Given the description of an element on the screen output the (x, y) to click on. 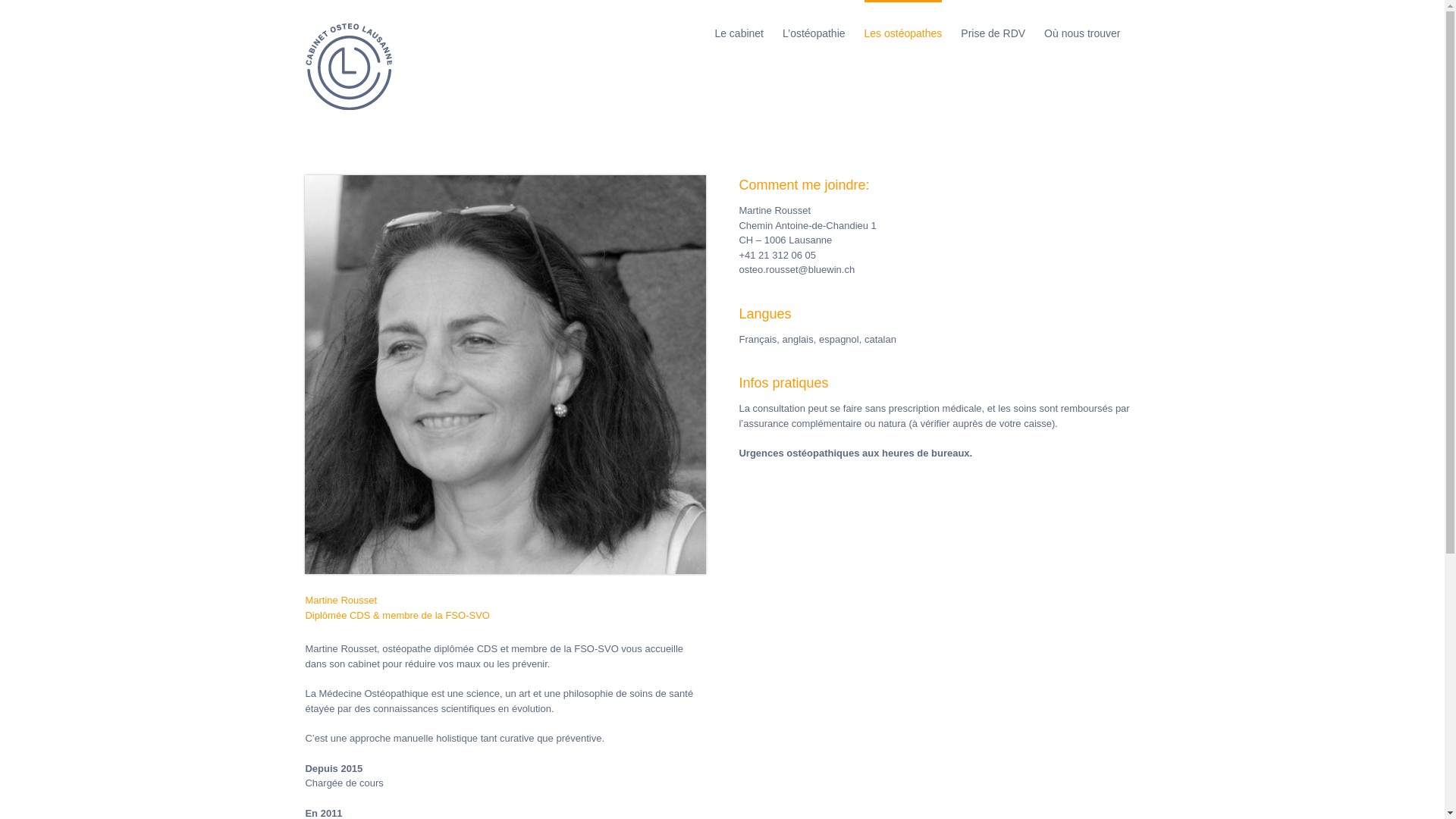
Le cabinet Element type: text (738, 31)
Prise de RDV Element type: text (992, 31)
